Given the description of an element on the screen output the (x, y) to click on. 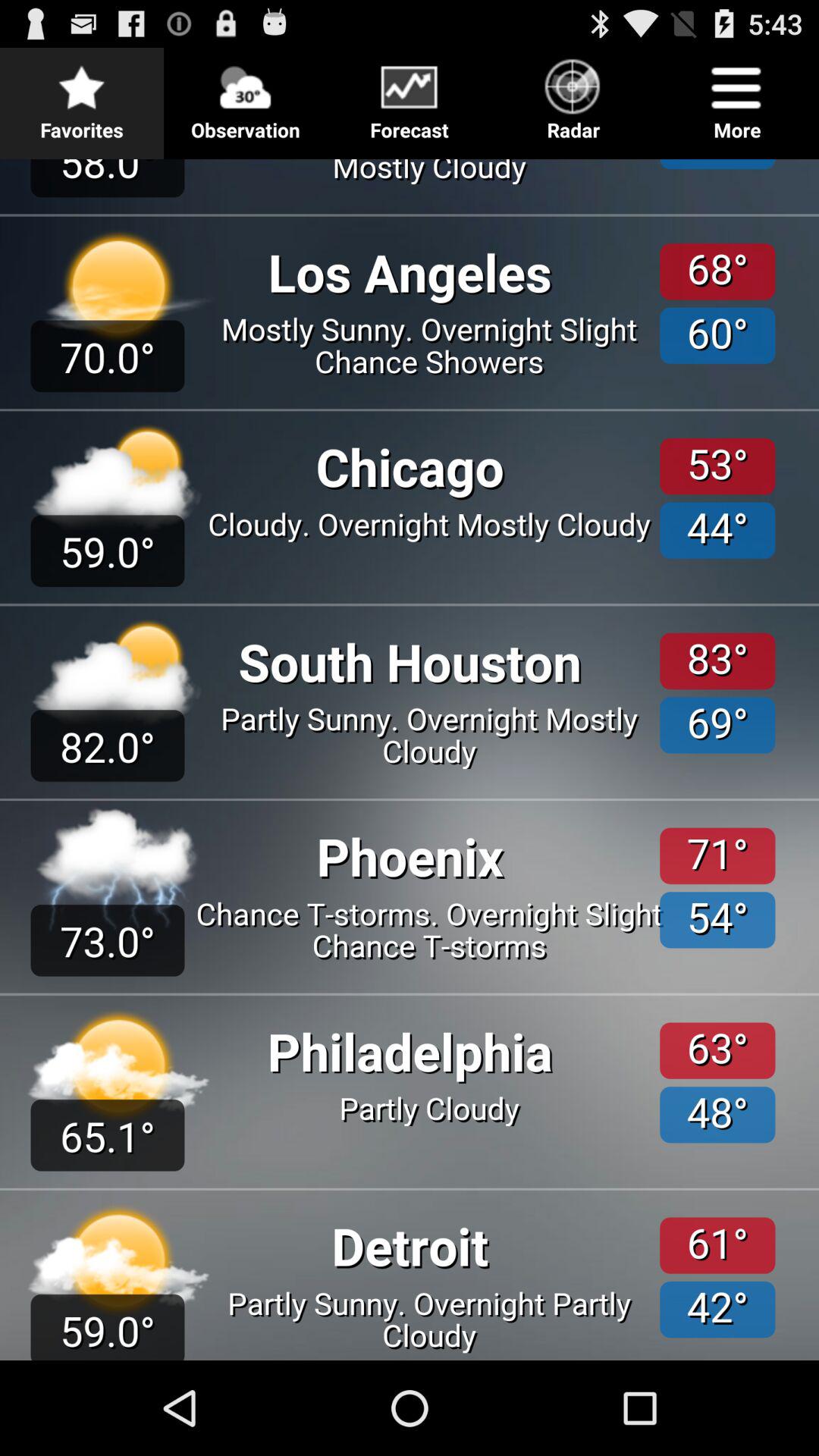
turn on item next to radar icon (409, 95)
